Given the description of an element on the screen output the (x, y) to click on. 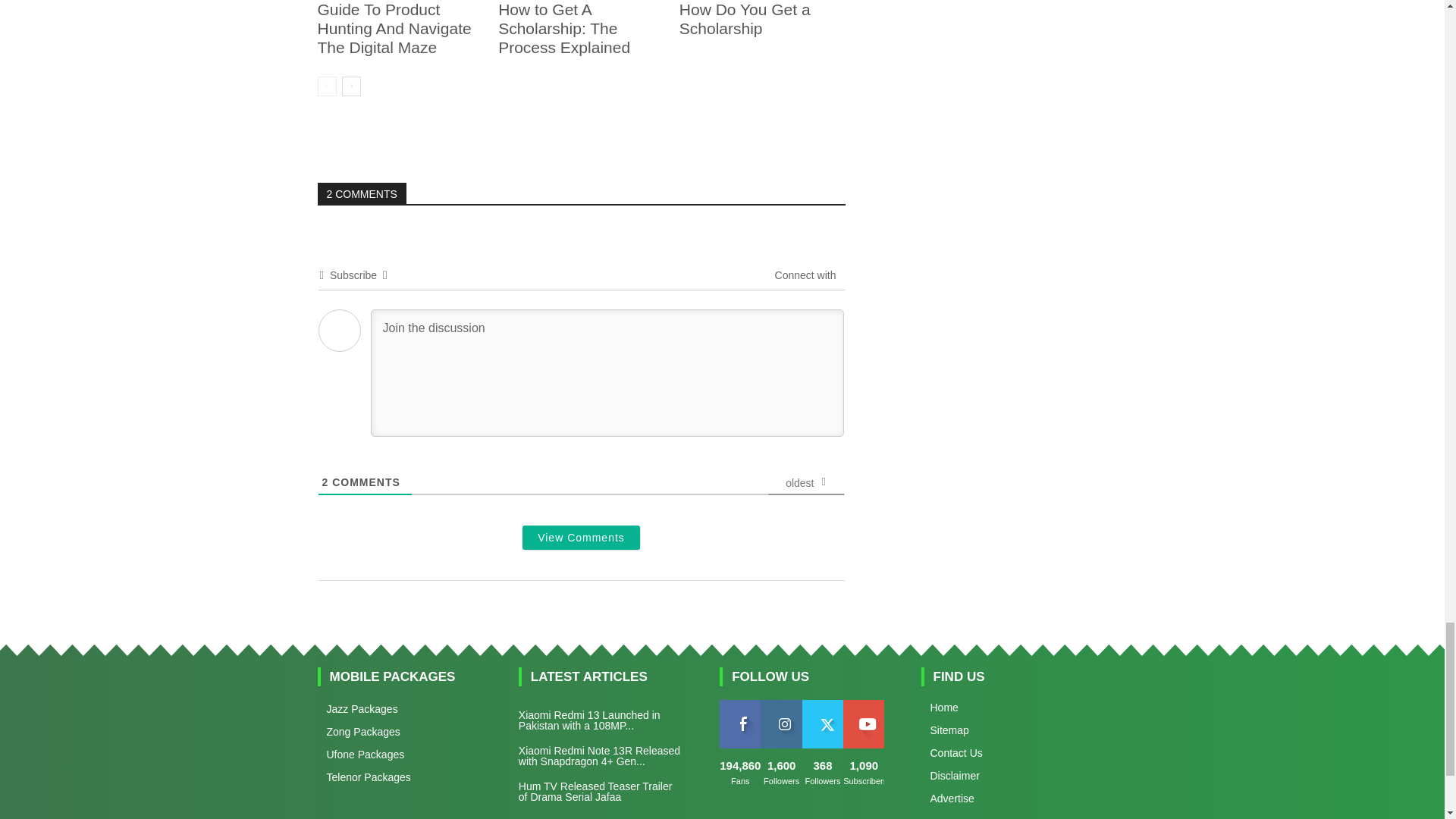
Guide To Product Hunting And Navigate The Digital Maze (393, 28)
